Given the description of an element on the screen output the (x, y) to click on. 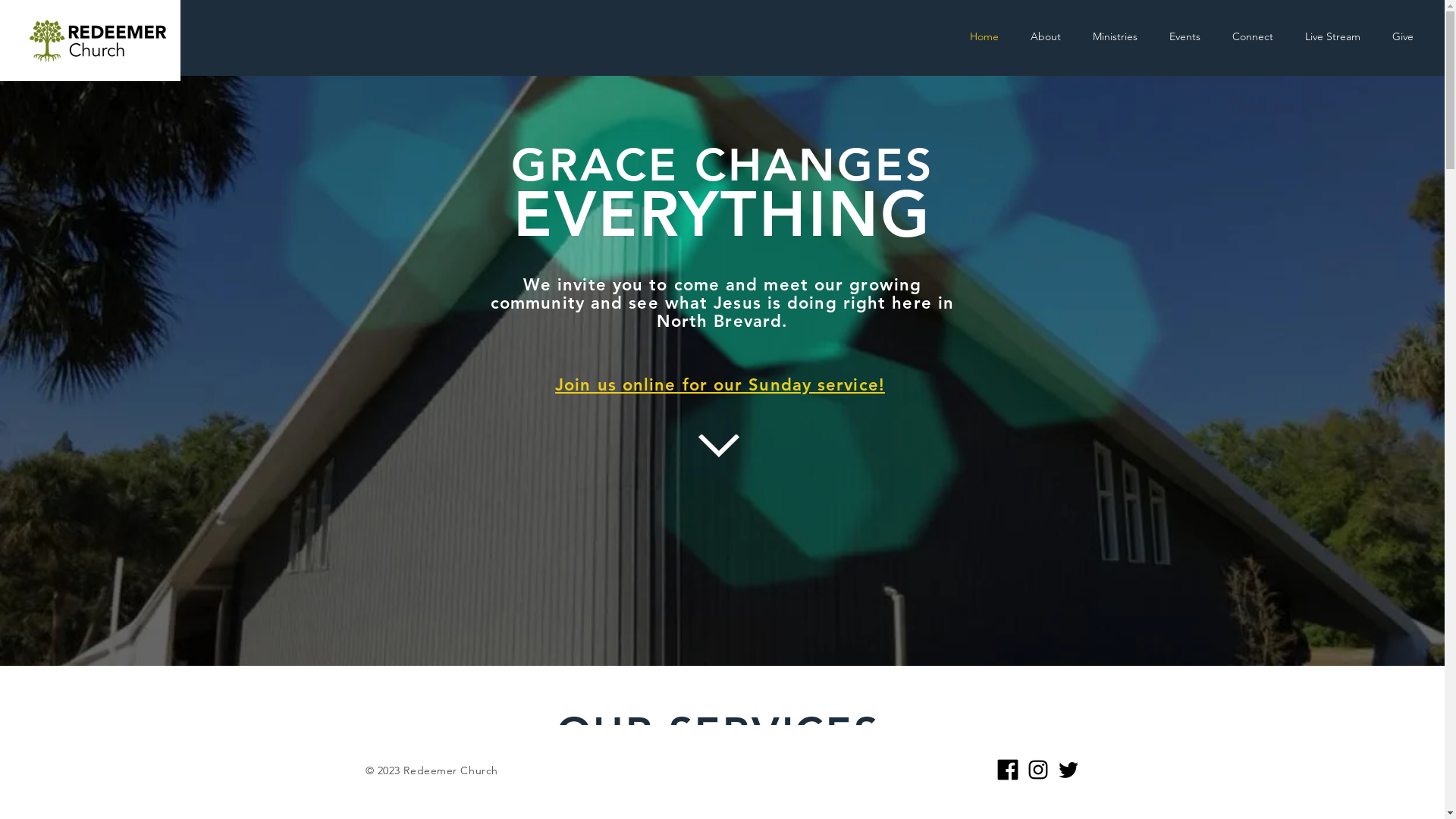
Home Element type: text (983, 36)
Events Element type: text (1184, 36)
Connect Element type: text (1252, 36)
Give Element type: text (1402, 36)
About Element type: text (1045, 36)
Join us online for our Sunday service! Element type: text (719, 384)
Ministries Element type: text (1114, 36)
Live Stream Element type: text (1332, 36)
